Given the description of an element on the screen output the (x, y) to click on. 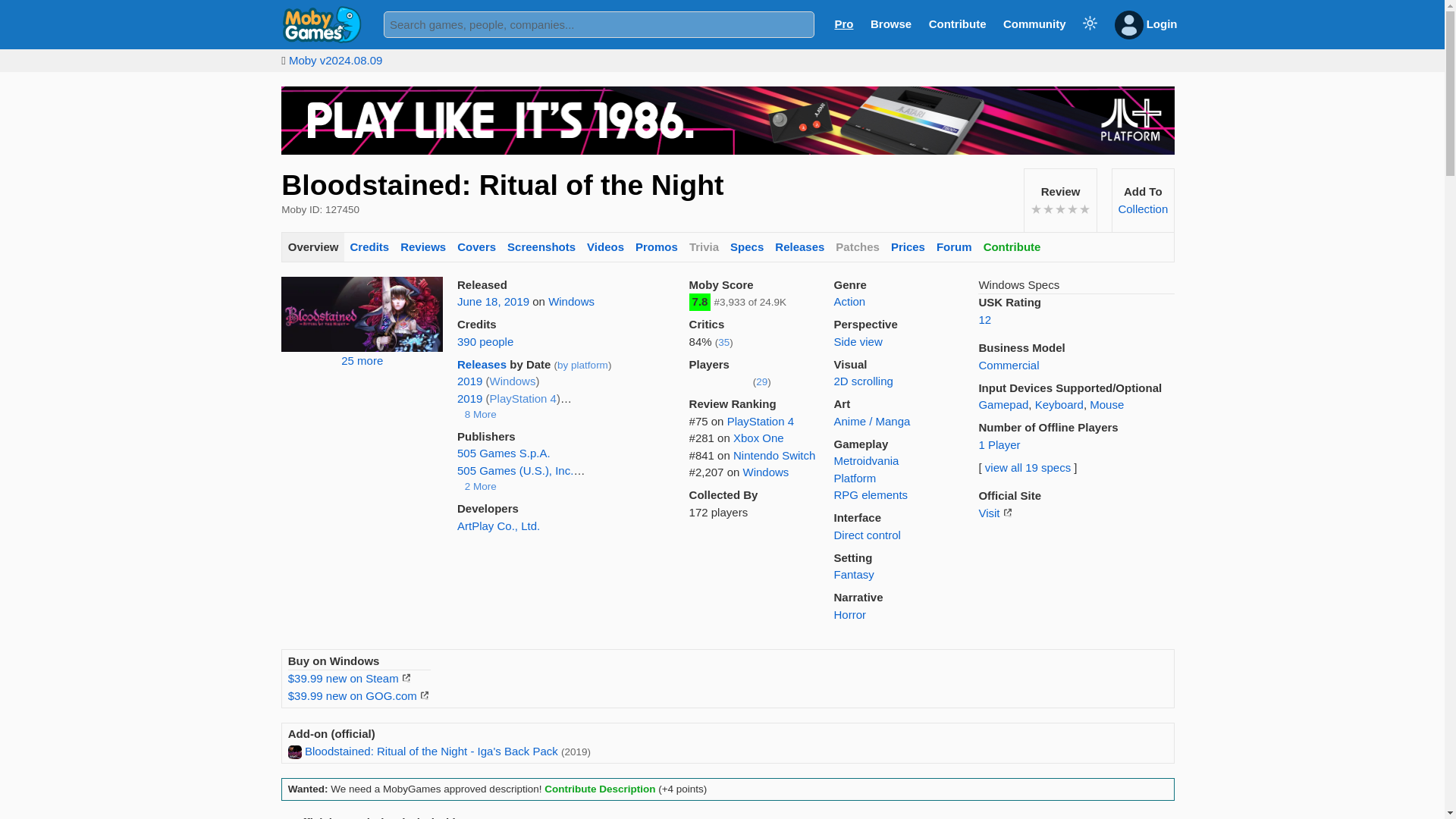
Covers (476, 247)
Moby v2024.08.09 (334, 60)
Reviews (422, 247)
Pro (843, 23)
Collection (1142, 208)
Credits (368, 247)
Overview (312, 247)
